Given the description of an element on the screen output the (x, y) to click on. 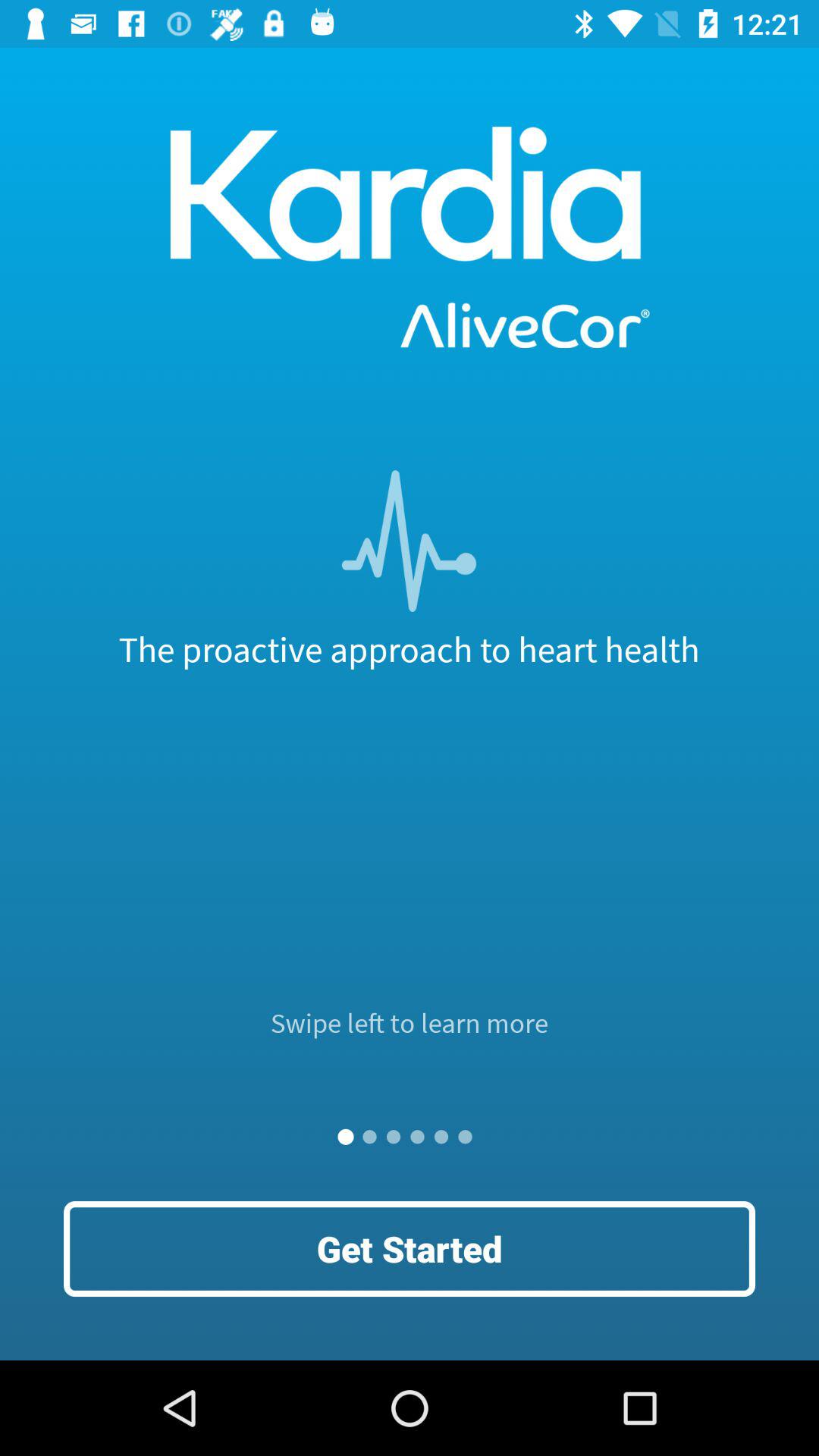
scroll until get started item (409, 1248)
